Given the description of an element on the screen output the (x, y) to click on. 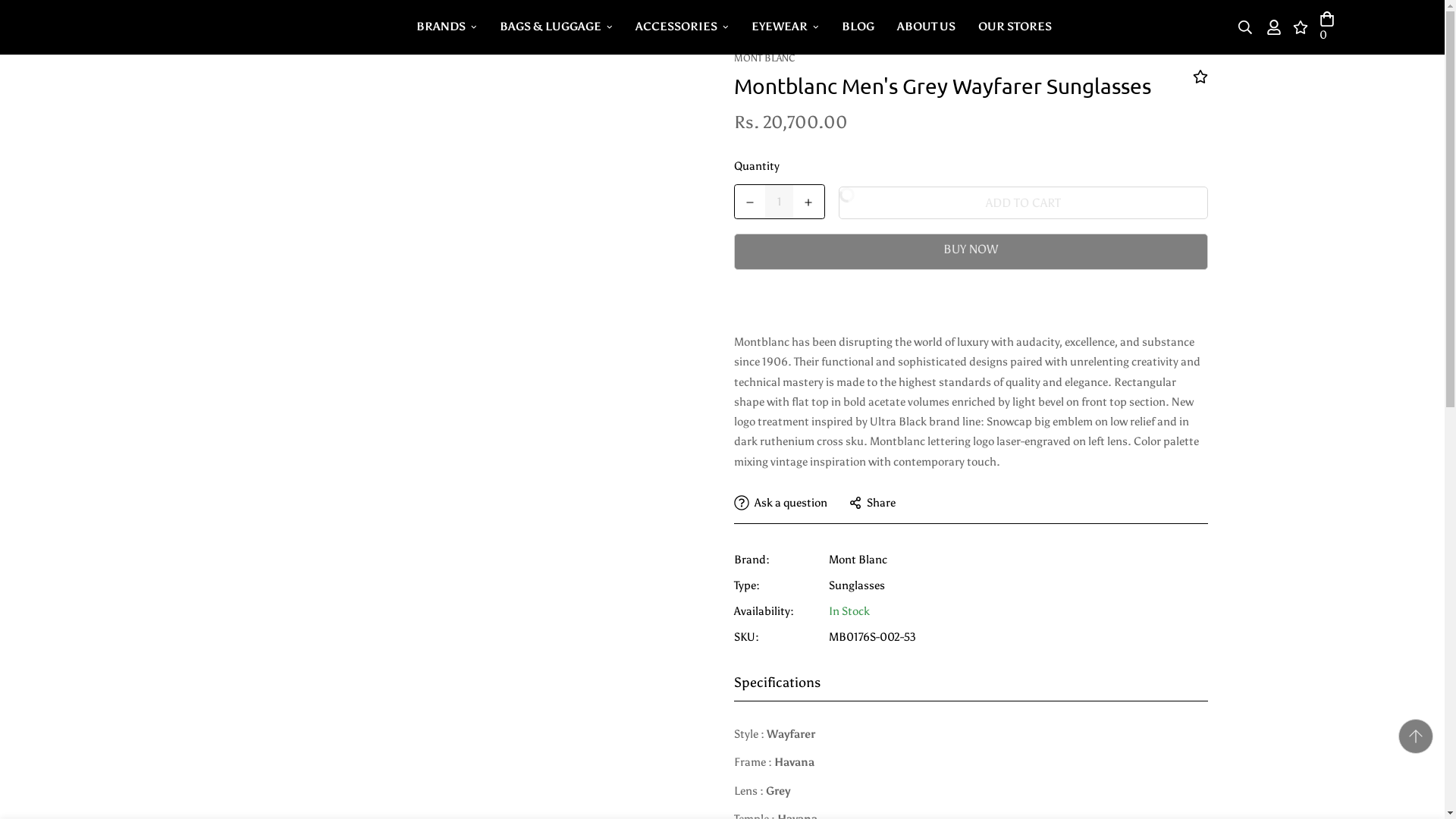
1 (779, 201)
BRANDS (445, 27)
Sunglasses (855, 585)
Mont Blanc (857, 559)
Helvetica Lifestyle (177, 27)
Back to the home page (240, 19)
